Given the description of an element on the screen output the (x, y) to click on. 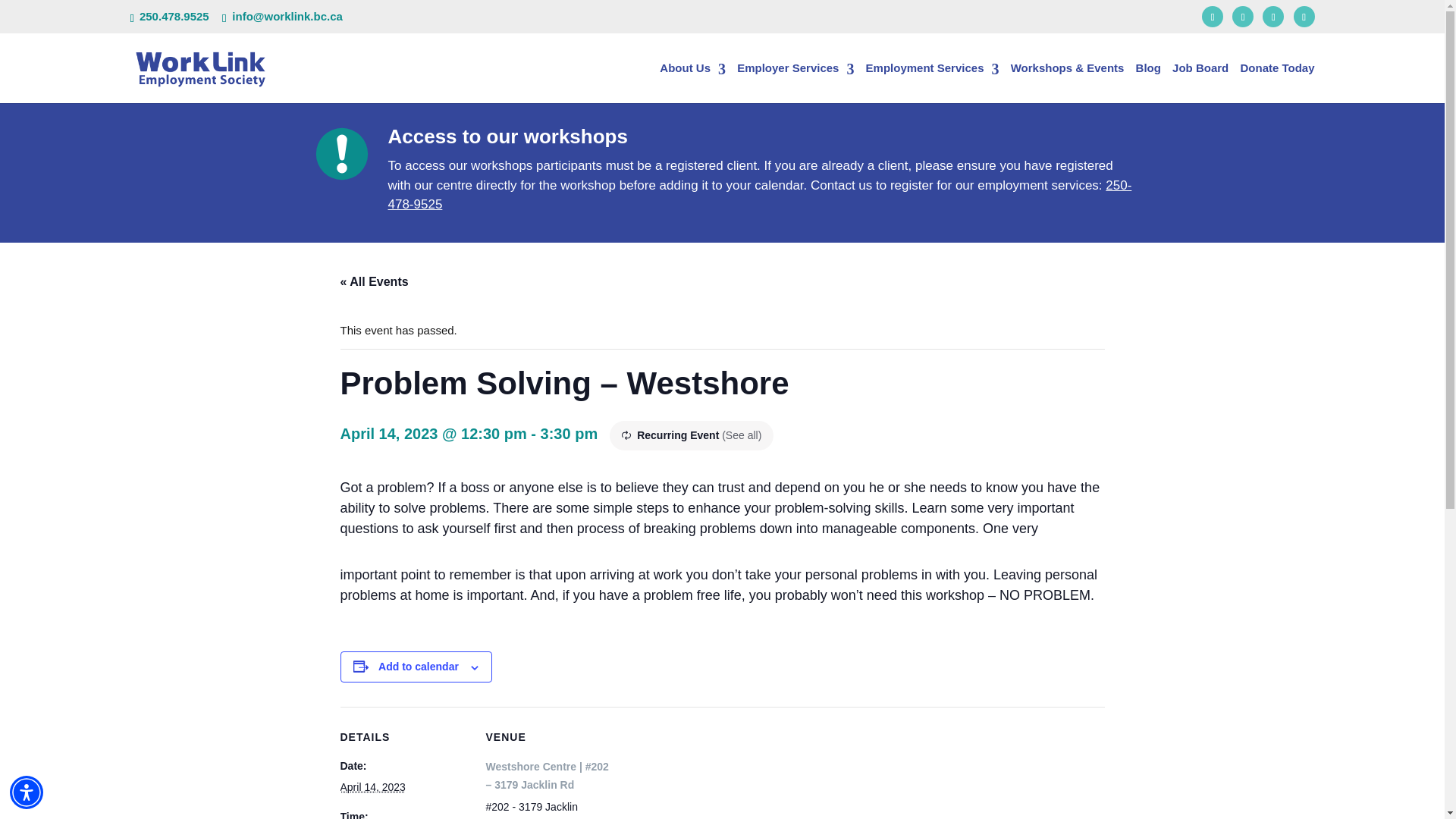
2023-04-14 (371, 787)
About Us (692, 83)
250.478.9525 (174, 15)
Accessibility Menu (26, 792)
